Given the description of an element on the screen output the (x, y) to click on. 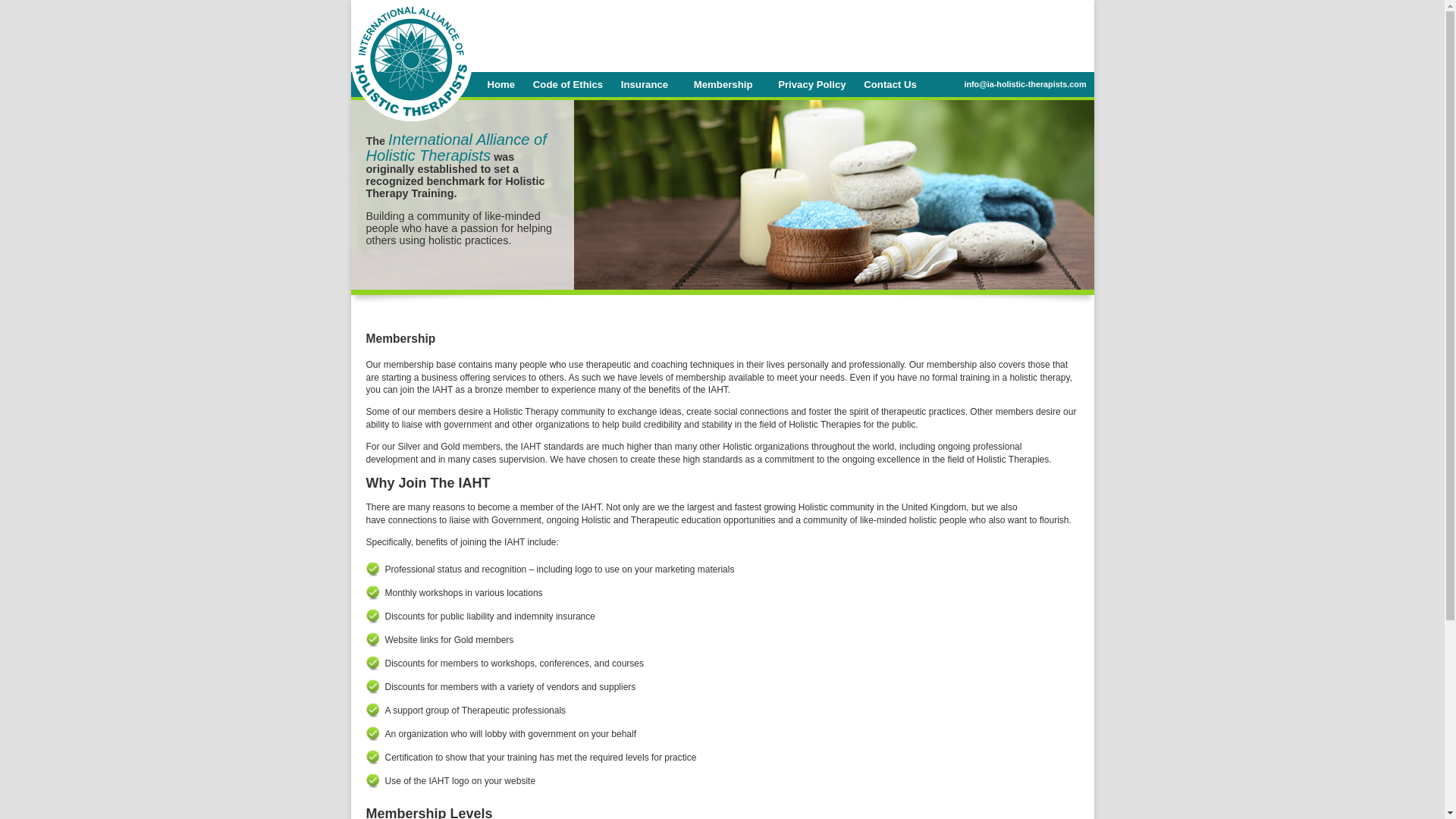
Code of Ethics (567, 84)
Membership (726, 88)
Home (500, 84)
Contact Us (890, 84)
Privacy Policy (811, 84)
Insurance (644, 84)
